Given the description of an element on the screen output the (x, y) to click on. 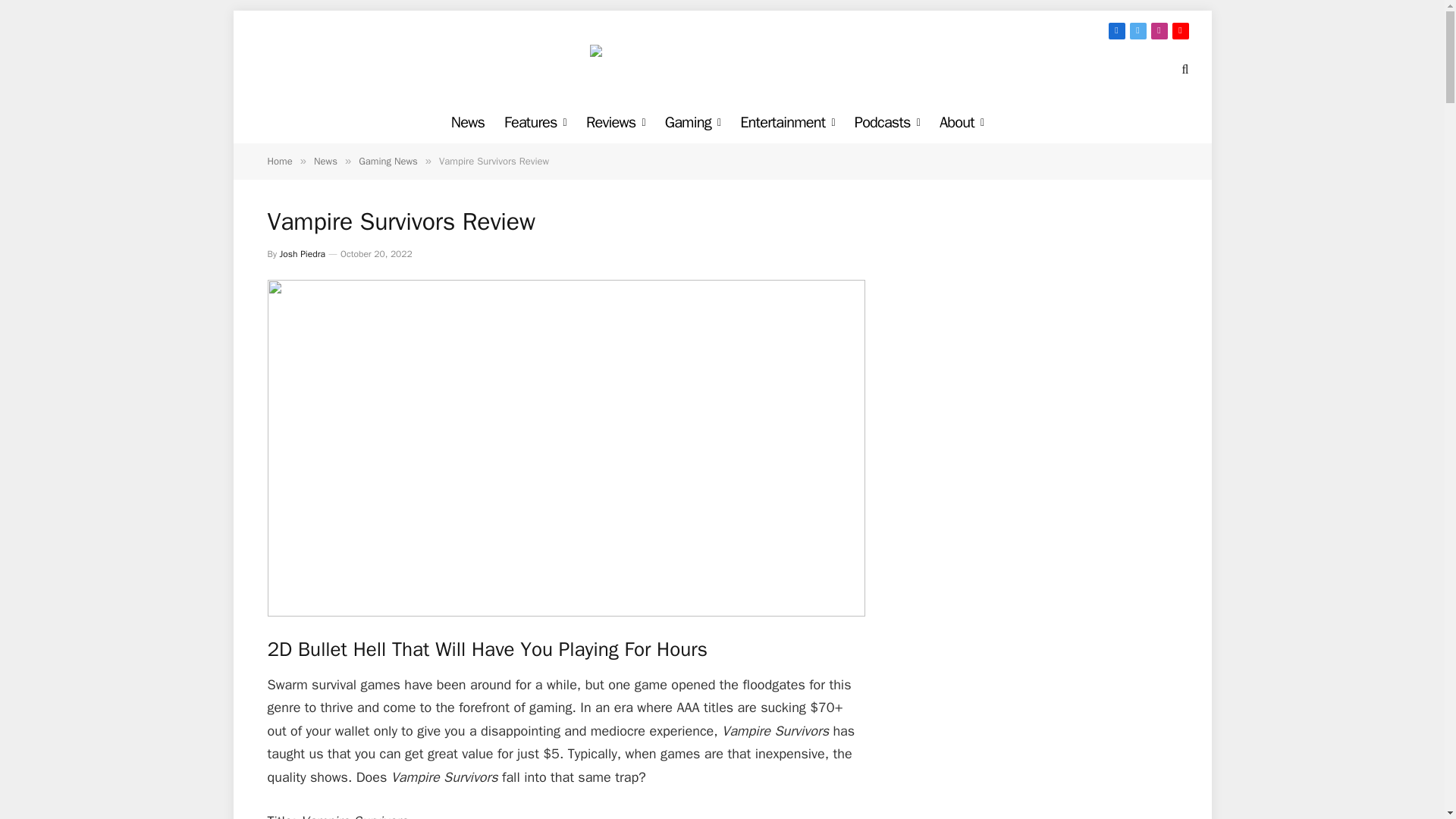
The Outerhaven (722, 68)
News (468, 122)
Posts by Josh Piedra (301, 254)
Features (535, 122)
Facebook (1116, 30)
Instagram (1159, 30)
Reviews (615, 122)
YouTube (1180, 30)
